Given the description of an element on the screen output the (x, y) to click on. 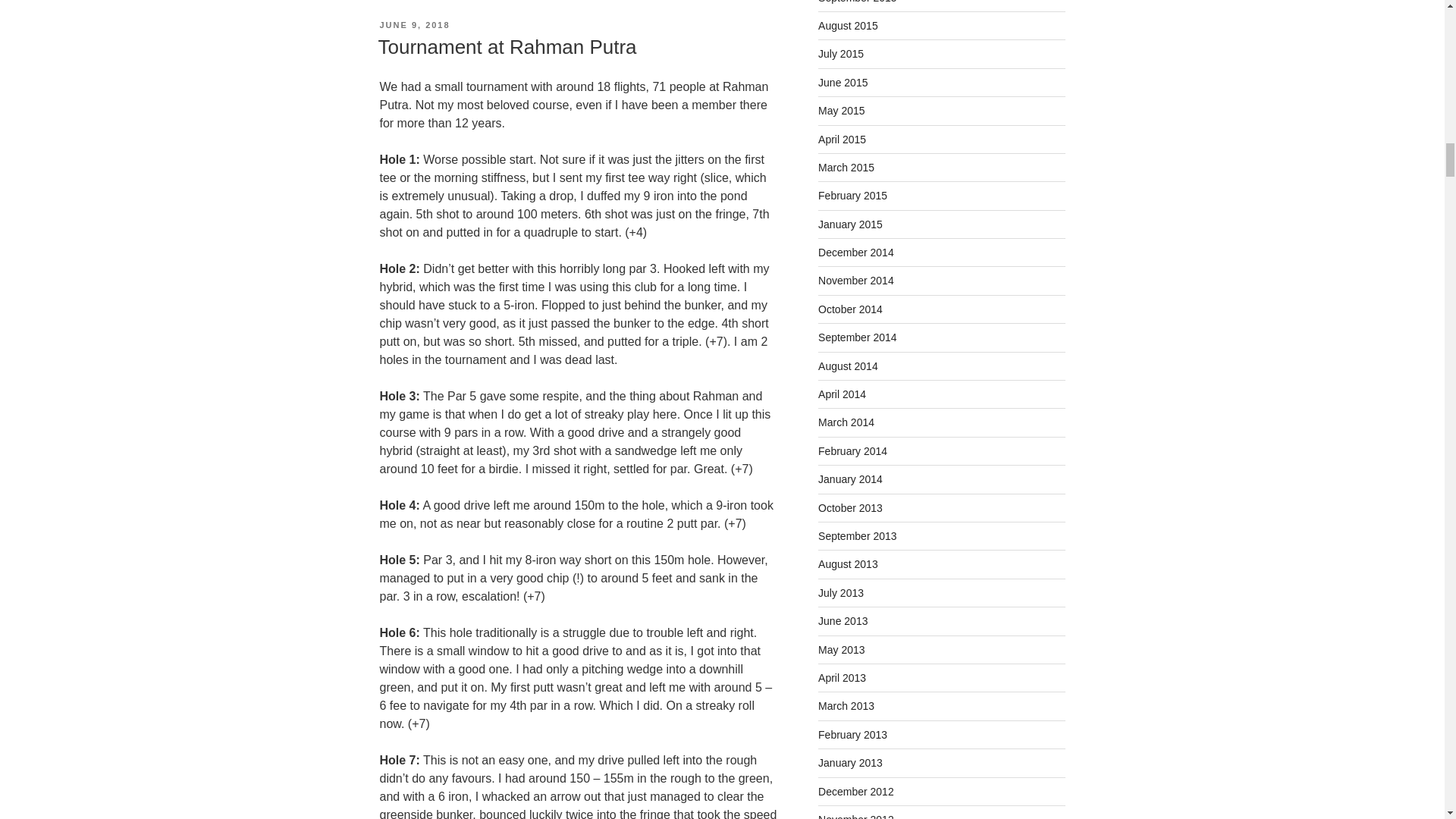
Tournament at Rahman Putra (506, 47)
JUNE 9, 2018 (413, 24)
